Given the description of an element on the screen output the (x, y) to click on. 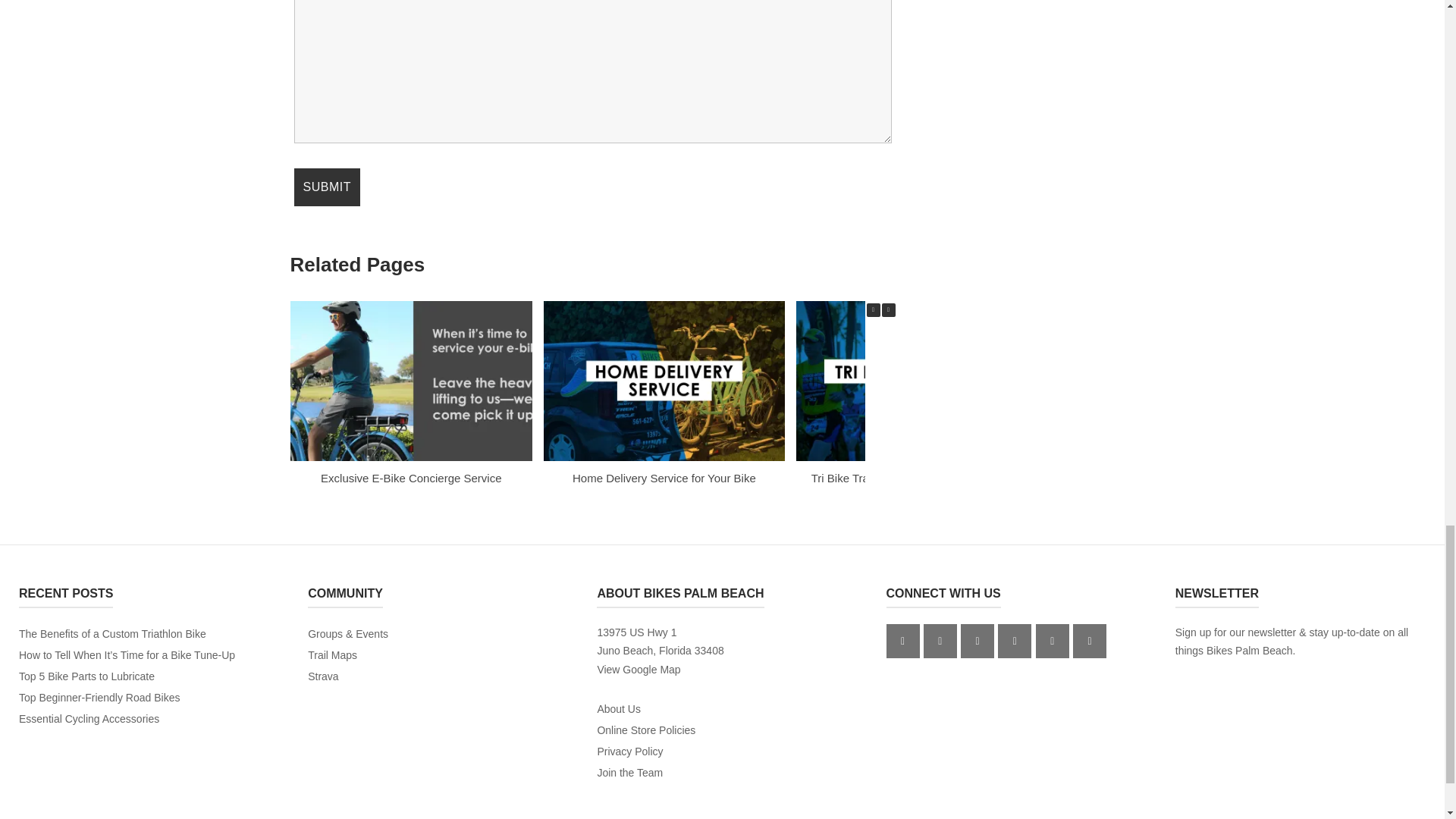
Submit (326, 187)
Bikes Palm Beach on Envelope (1051, 641)
Facebook (903, 641)
Next (887, 309)
Previous (872, 309)
Bikes Palm Beach on Linkedin (1013, 641)
YouTube (977, 641)
Instagram (939, 641)
Phone Bikes Palm Beach (1089, 641)
